Given the description of an element on the screen output the (x, y) to click on. 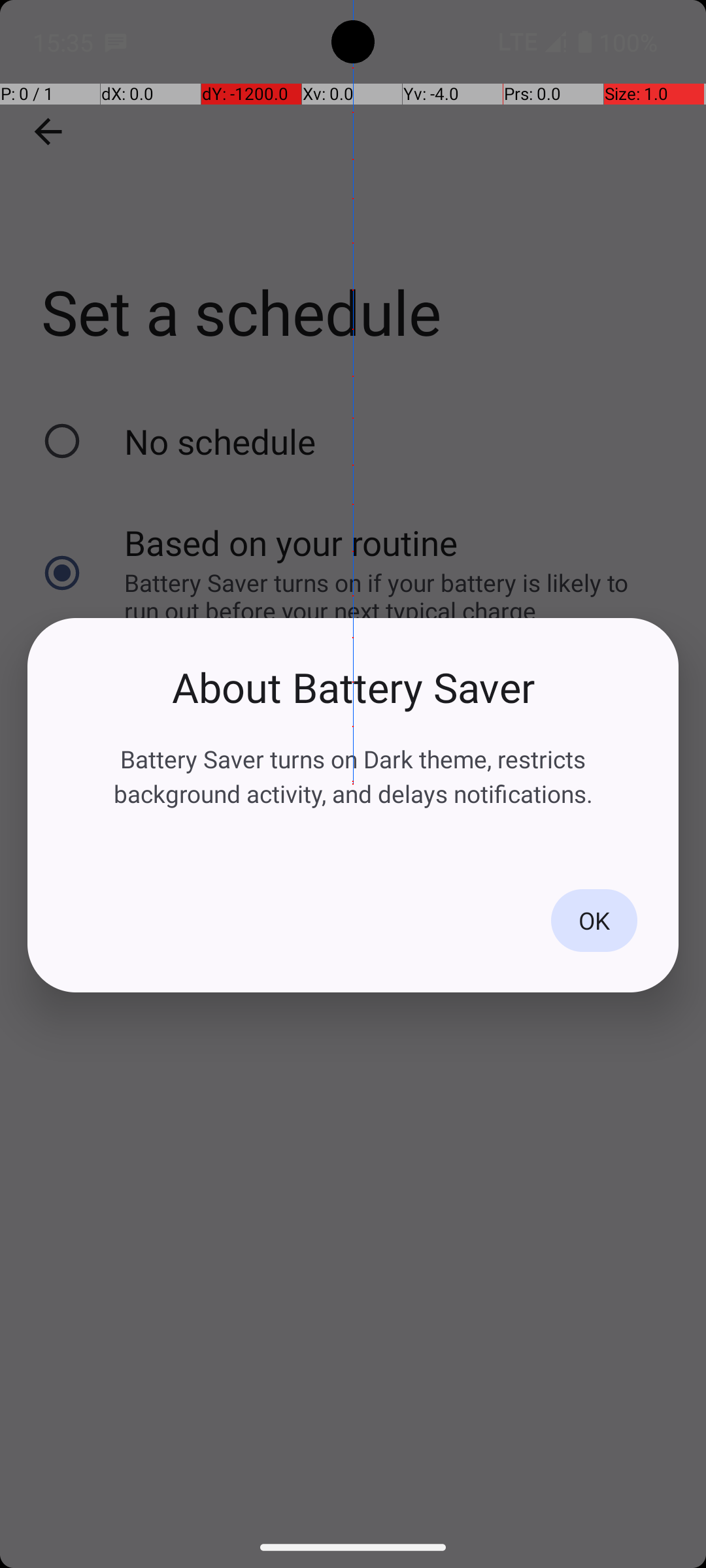
About Battery Saver Element type: android.widget.TextView (352, 686)
Battery Saver turns on Dark theme, restricts background activity, and delays notifications. Element type: android.widget.TextView (352, 776)
